Given the description of an element on the screen output the (x, y) to click on. 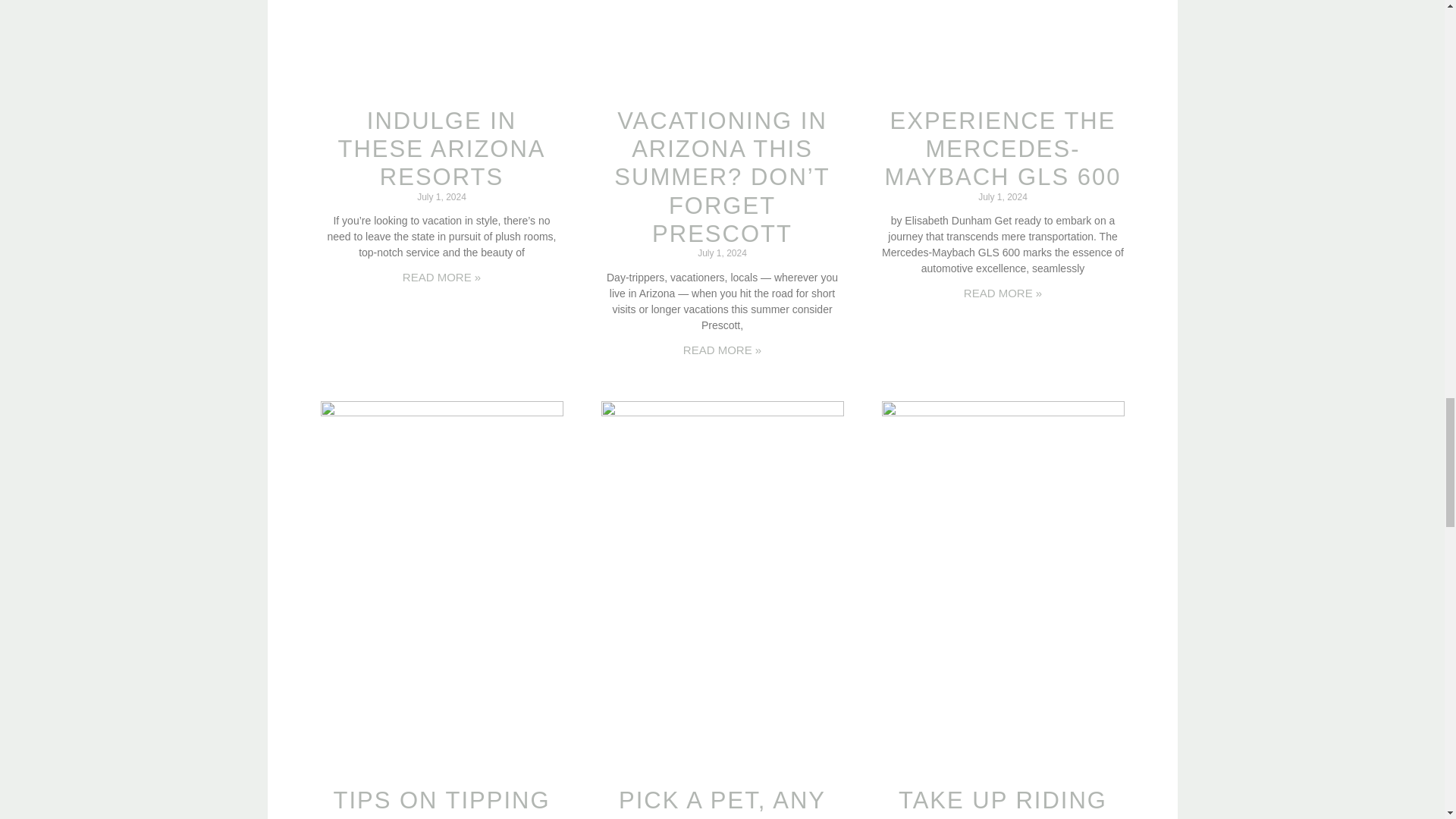
INDULGE IN THESE ARIZONA RESORTS (440, 148)
